Given the description of an element on the screen output the (x, y) to click on. 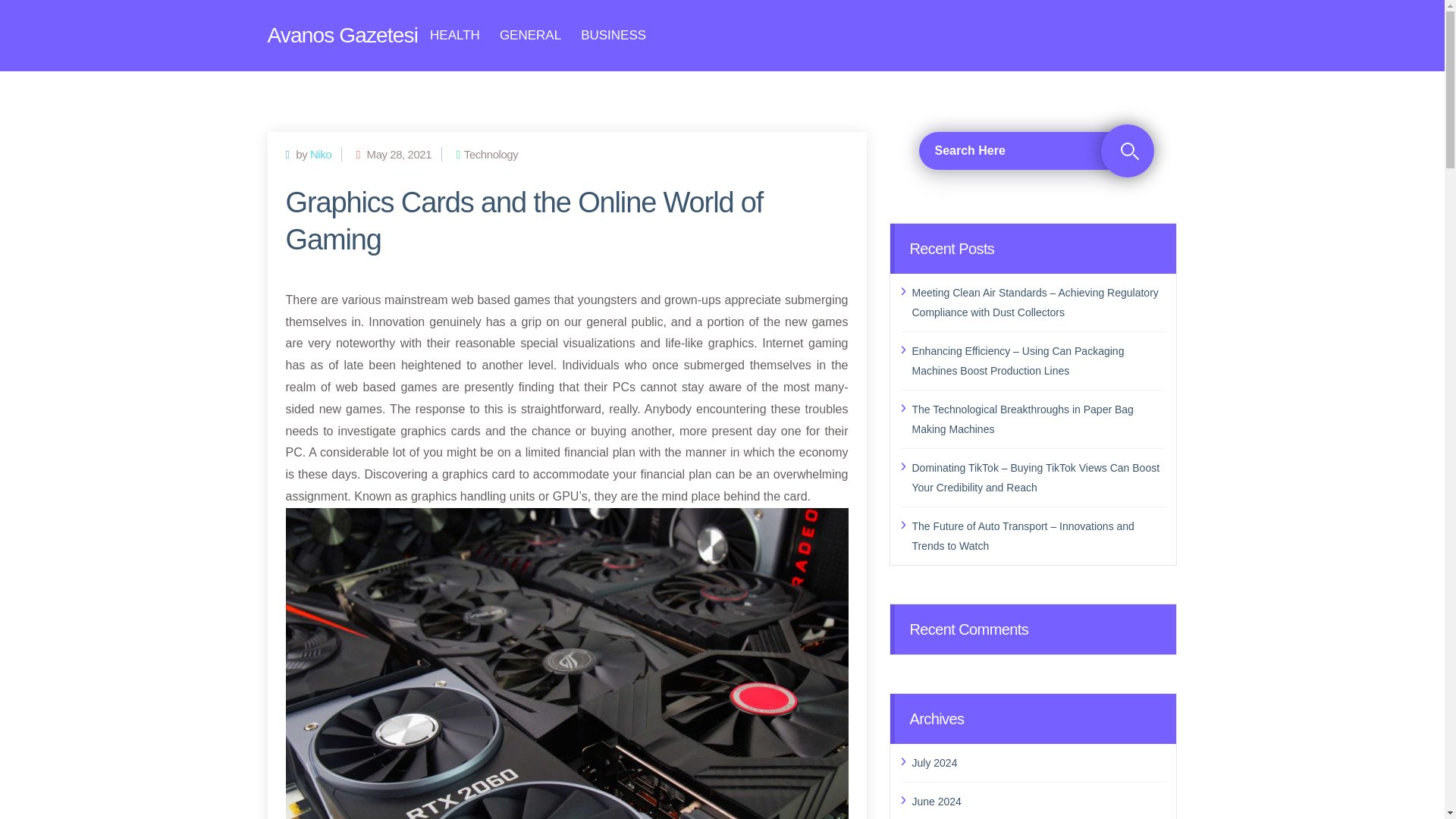
June 2024 (1038, 801)
GENERAL (529, 35)
Niko (320, 153)
HEALTH (454, 35)
The Technological Breakthroughs in Paper Bag Making Machines (1038, 418)
July 2024 (1038, 762)
Avanos Gazetesi (341, 35)
BUSINESS (613, 35)
